Given the description of an element on the screen output the (x, y) to click on. 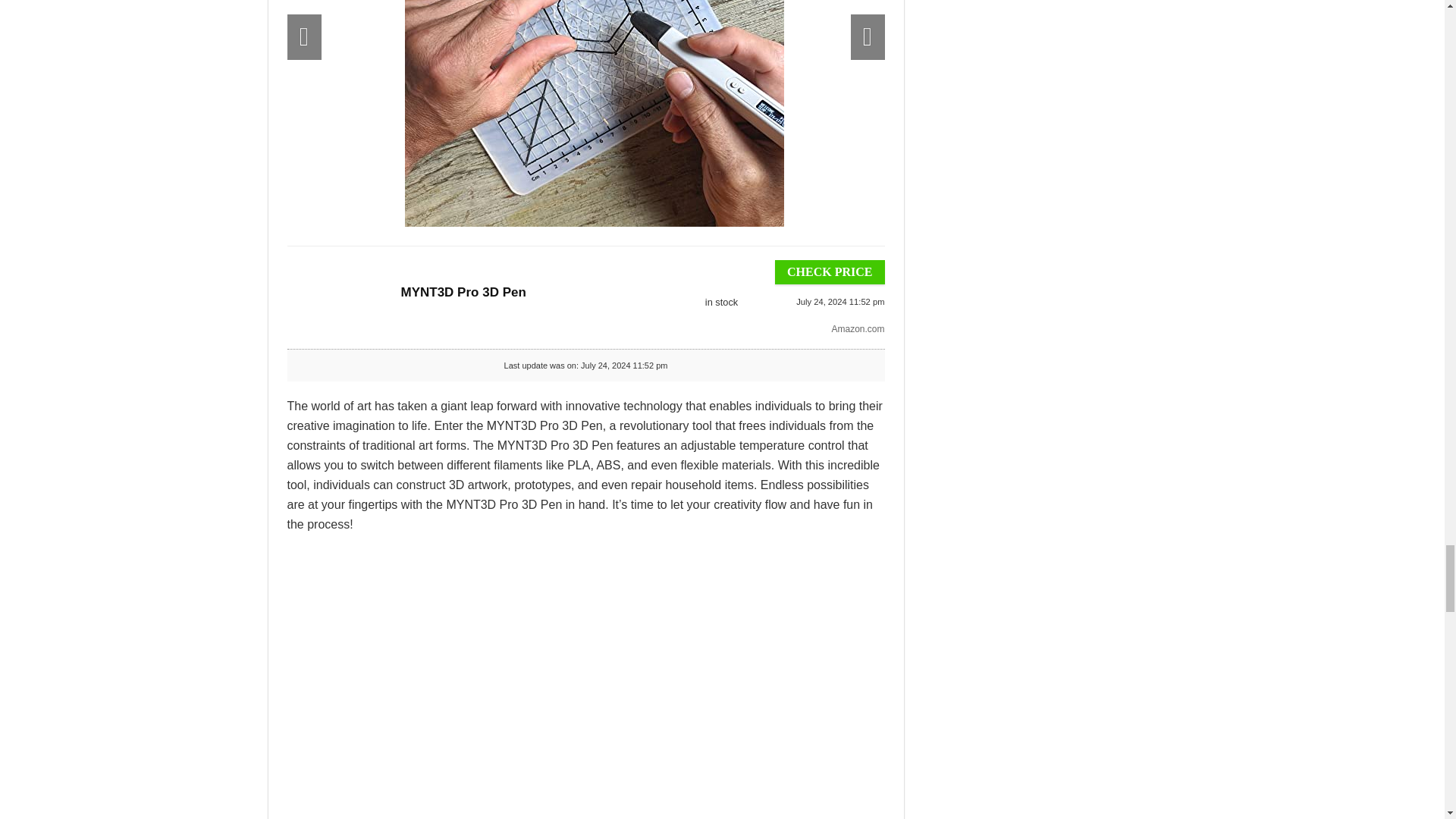
Last update was in: July 24, 2024 11:52 pm (720, 302)
